Given the description of an element on the screen output the (x, y) to click on. 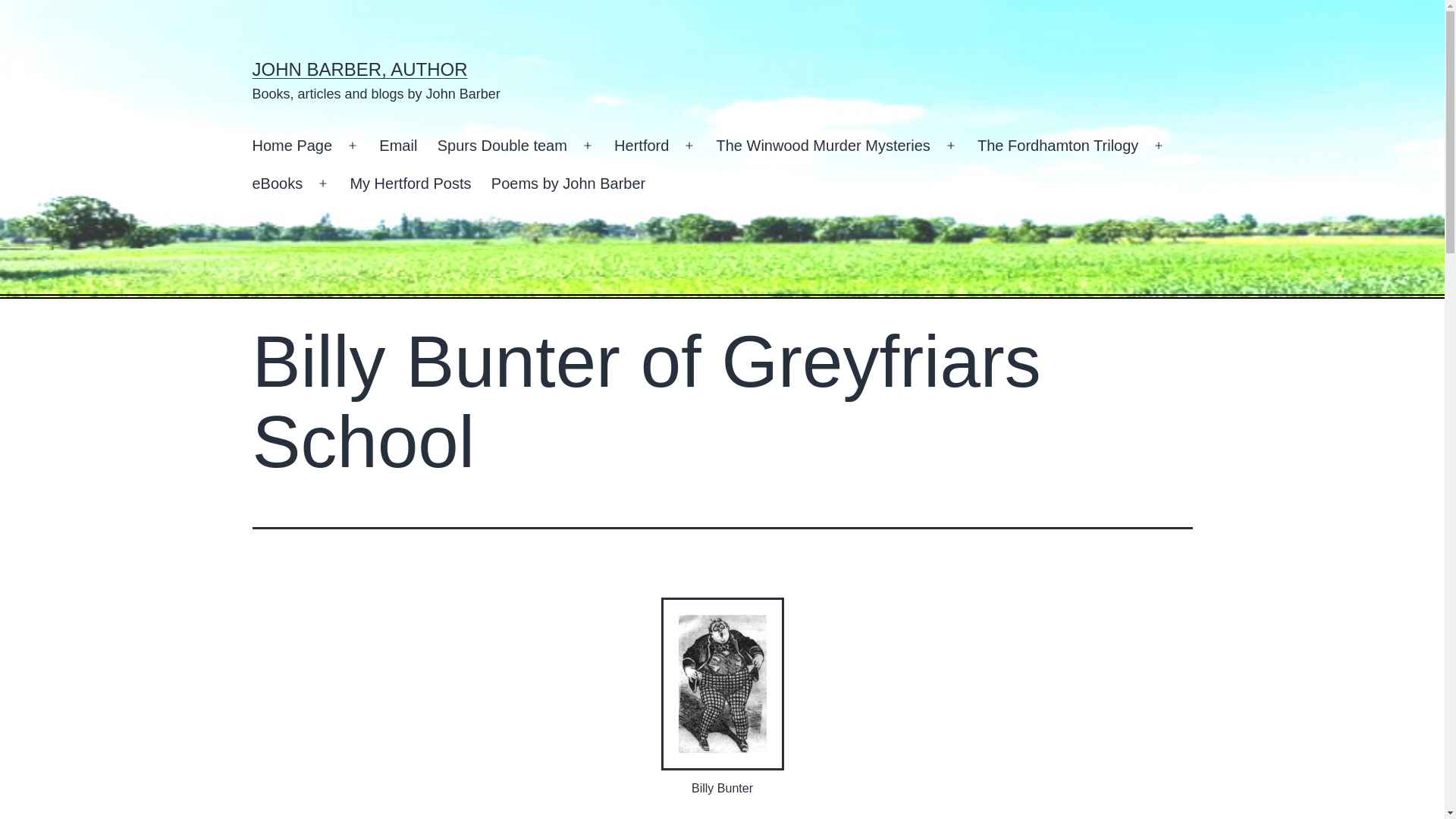
JOHN BARBER, AUTHOR (359, 68)
The Winwood Murder Mysteries (823, 145)
Home Page (291, 145)
eBooks (277, 184)
Hertford (641, 145)
The Fordhamton Trilogy (1058, 145)
Email (397, 145)
Spurs Double team (503, 145)
